Given the description of an element on the screen output the (x, y) to click on. 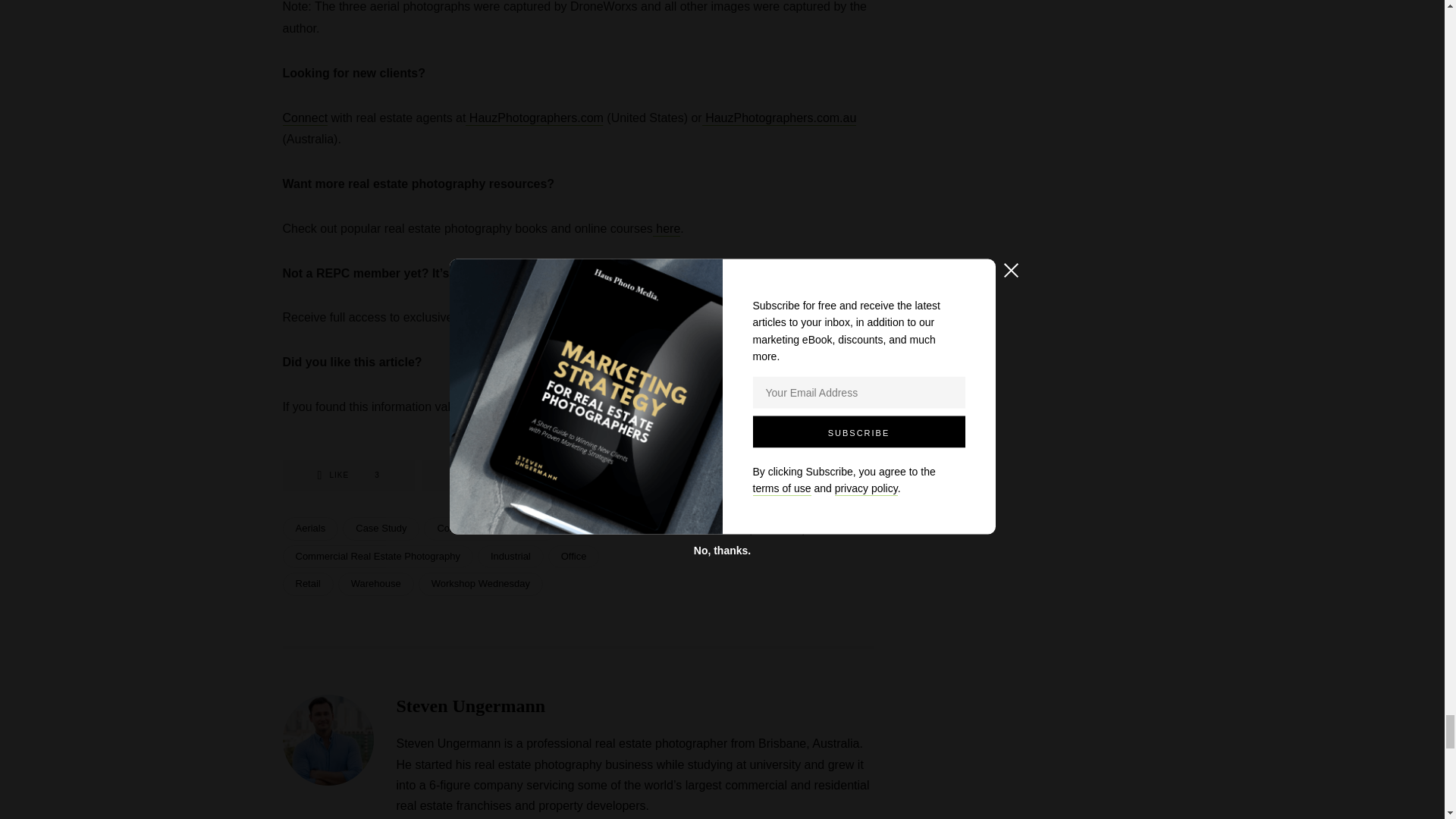
HauzPhotographers.com (533, 117)
Facebook (500, 475)
Like (347, 475)
HauzPhotographers.com.au (779, 117)
Connect (304, 117)
Twitter (658, 475)
Subscribe here. (347, 475)
here (809, 318)
Email (665, 228)
